Given the description of an element on the screen output the (x, y) to click on. 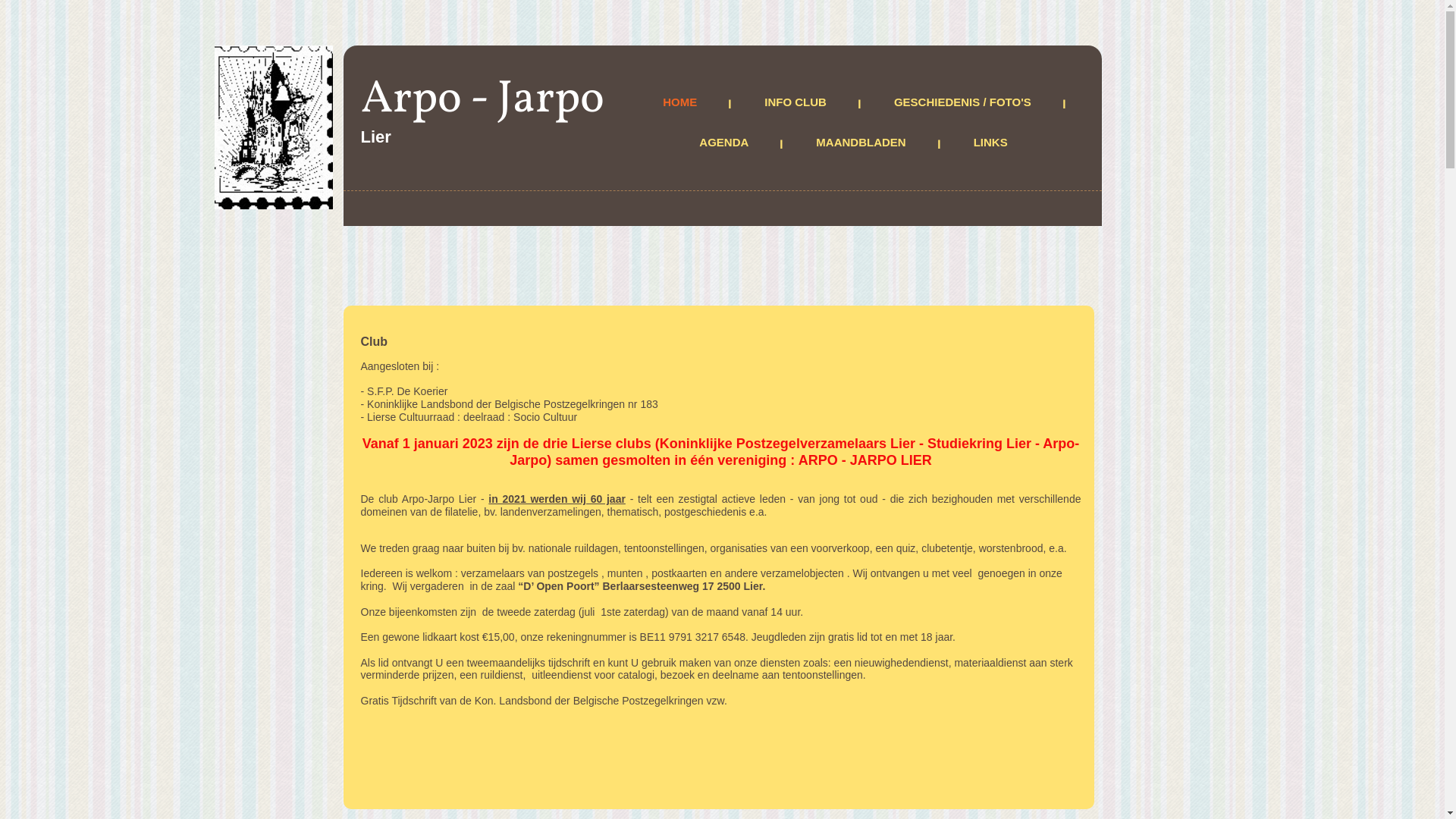
INFO CLUB Element type: text (799, 103)
HOME Element type: text (684, 103)
LINKS Element type: text (994, 144)
AGENDA Element type: text (728, 144)
GESCHIEDENIS / FOTO'S Element type: text (967, 103)
MAANDBLADEN Element type: text (865, 144)
